Given the description of an element on the screen output the (x, y) to click on. 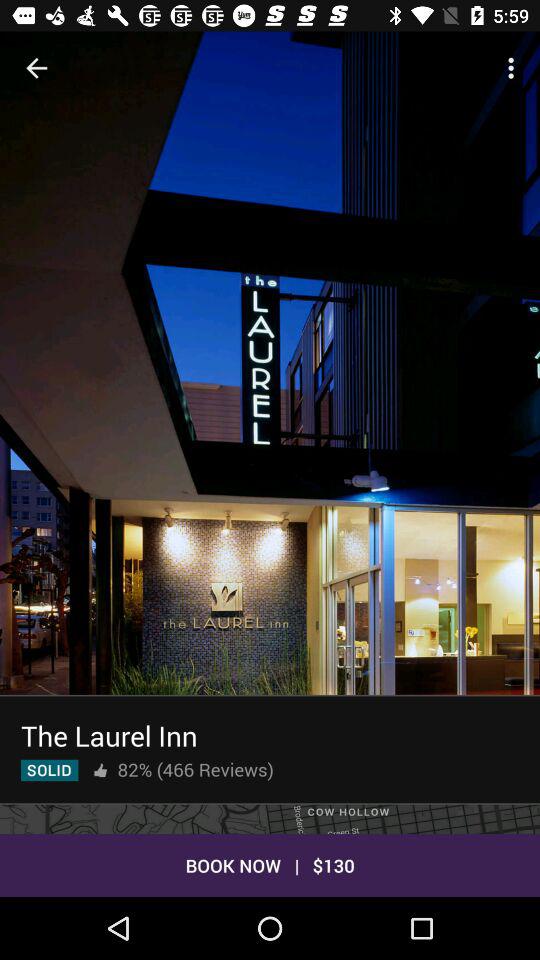
press icon below the laurel inn icon (49, 770)
